Given the description of an element on the screen output the (x, y) to click on. 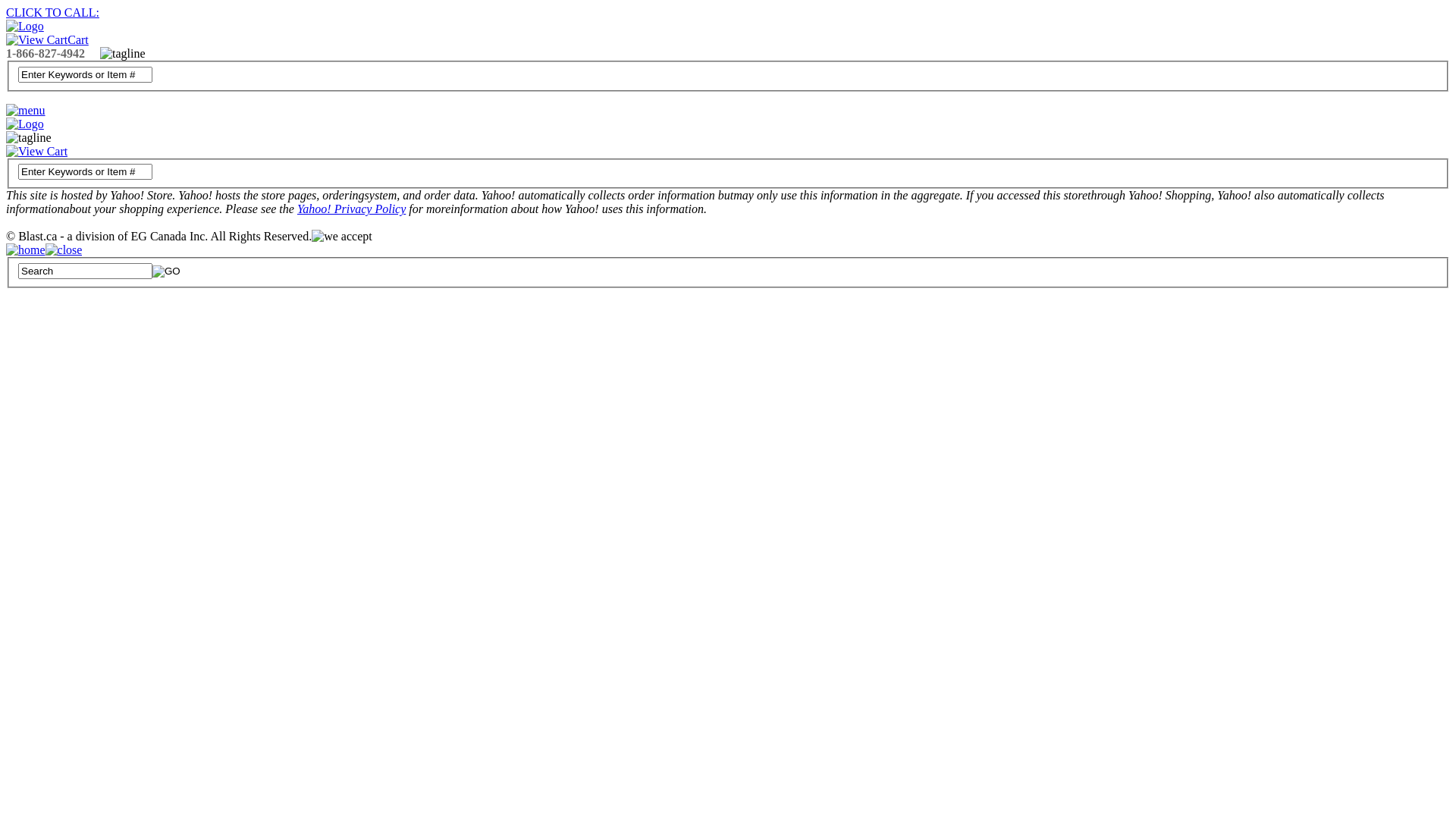
Cart Element type: text (47, 39)
CLICK TO CALL: Element type: text (52, 12)
Yahoo! Privacy Policy Element type: text (351, 208)
